Given the description of an element on the screen output the (x, y) to click on. 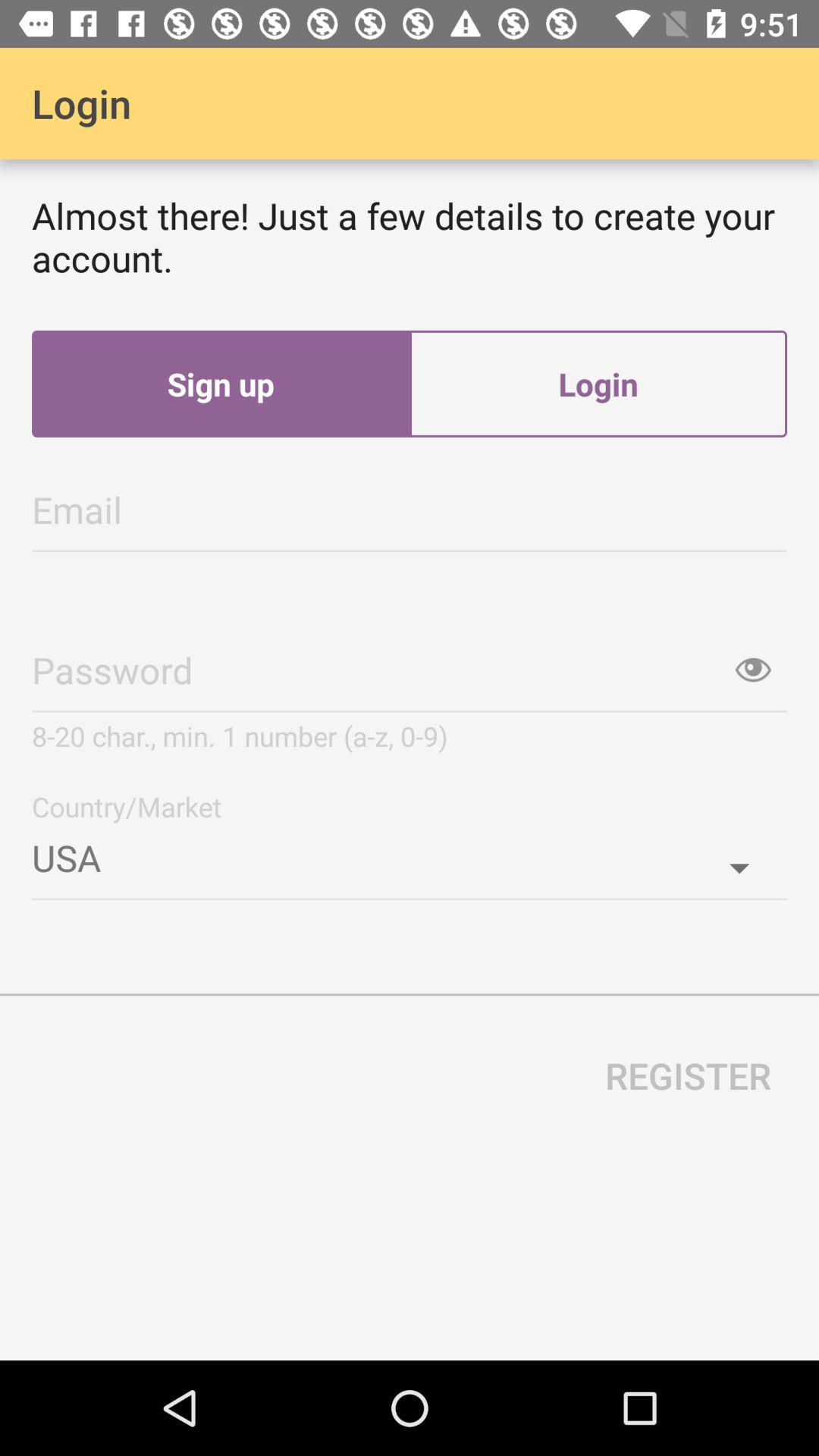
choose item at the bottom right corner (688, 1075)
